Given the description of an element on the screen output the (x, y) to click on. 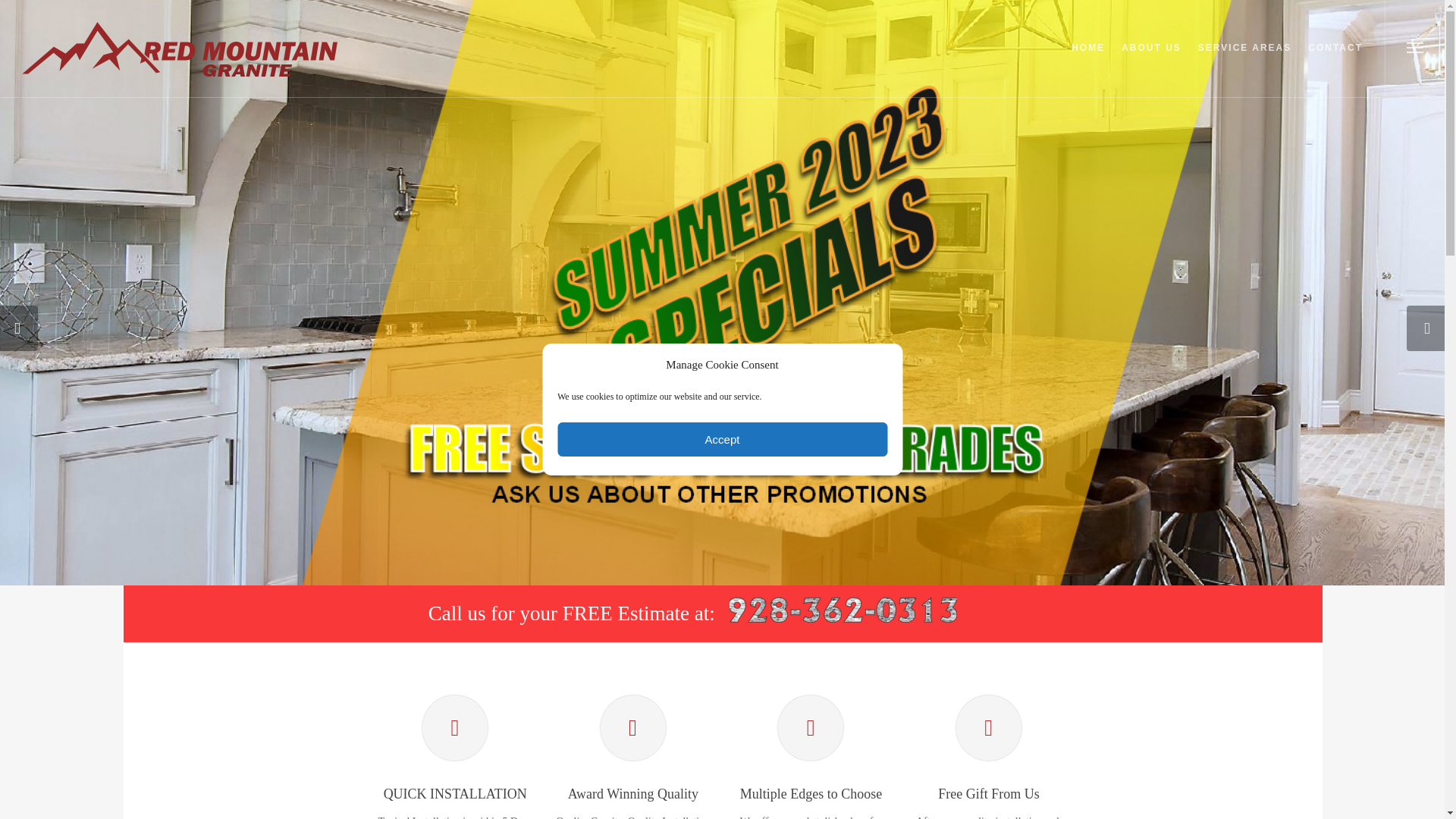
Accept (721, 439)
CONTACT (1335, 58)
SERVICE AREAS (1244, 58)
ABOUT US (1151, 58)
